Given the description of an element on the screen output the (x, y) to click on. 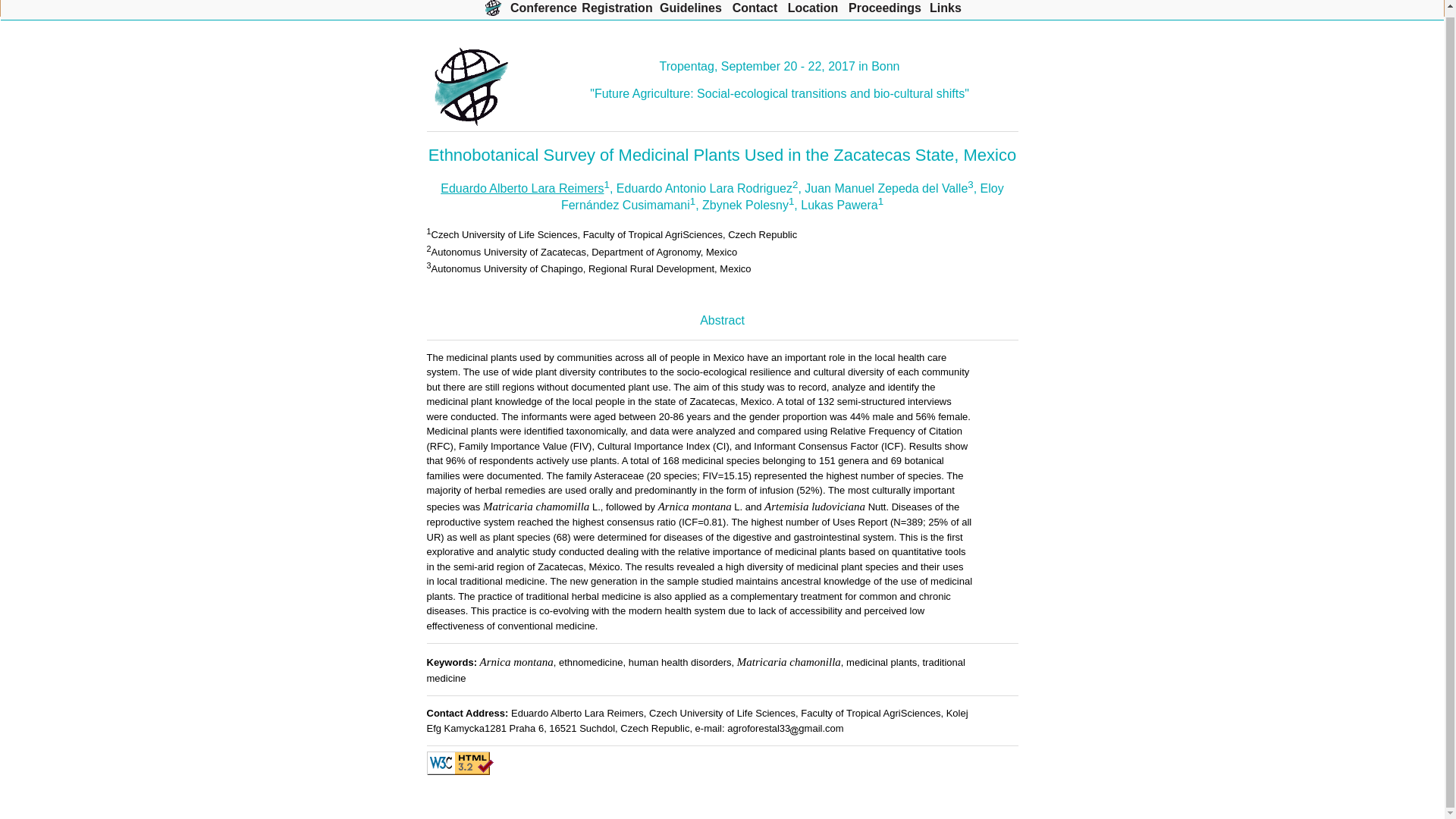
Guidelines (689, 7)
Location (813, 7)
Conference (542, 7)
Registration (616, 7)
Proceedings (885, 7)
Contact (754, 7)
Tropentag 2024 (493, 7)
Links (944, 7)
